Given the description of an element on the screen output the (x, y) to click on. 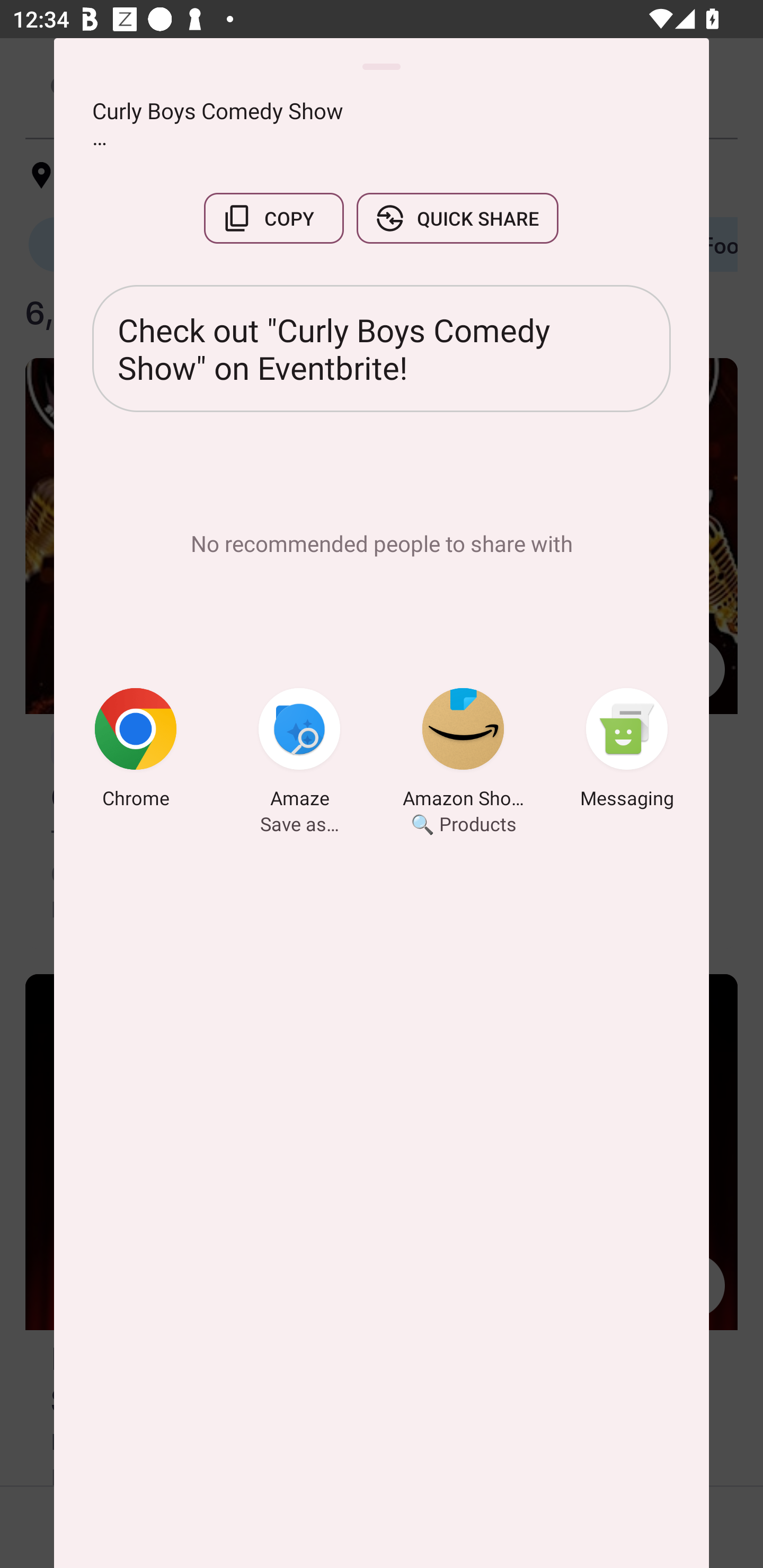
COPY (273, 218)
QUICK SHARE (457, 218)
Chrome (135, 751)
Amaze Save as… (299, 751)
Amazon Shopping 🔍 Products (463, 751)
Messaging (626, 751)
